Given the description of an element on the screen output the (x, y) to click on. 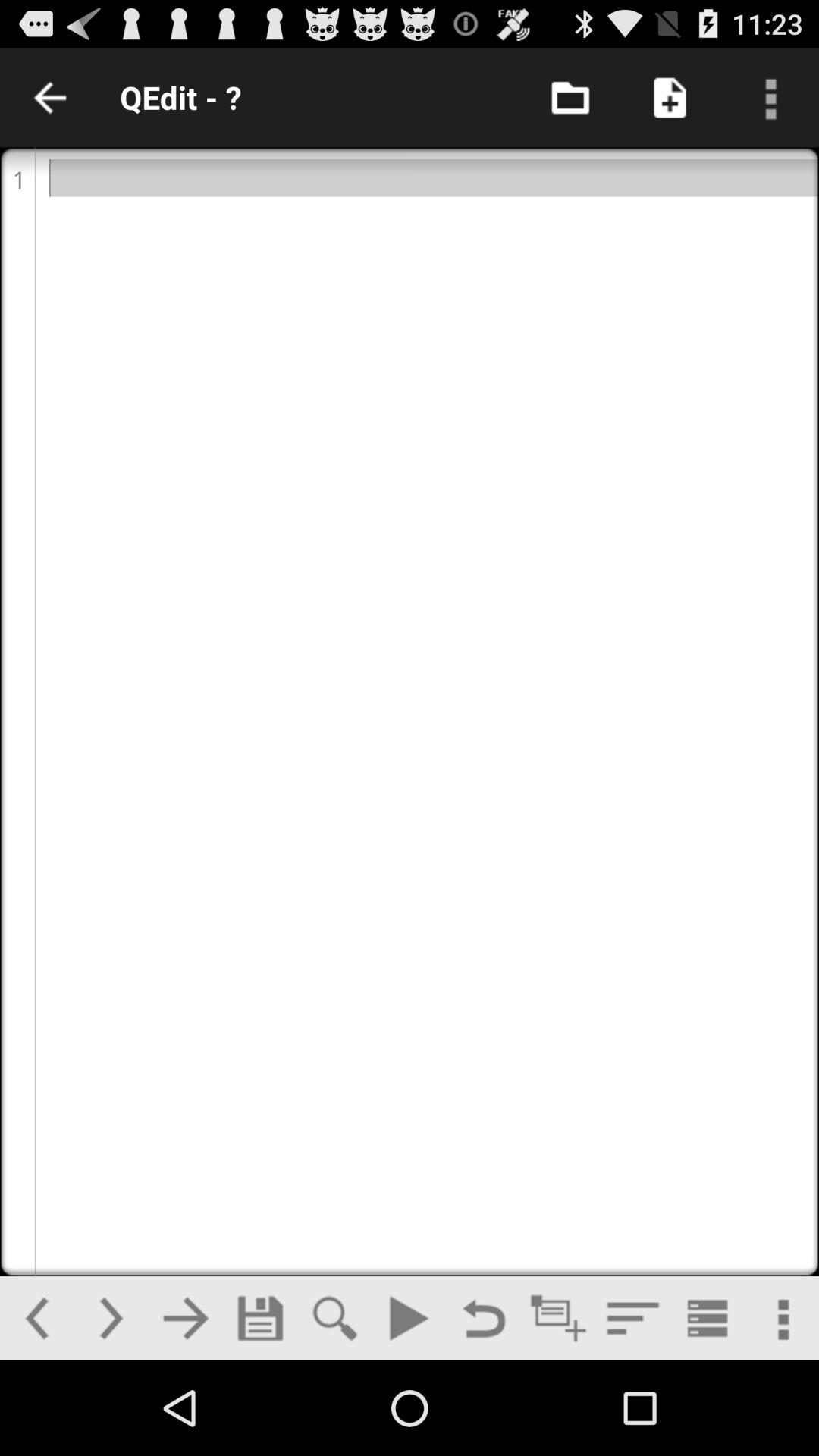
to save the files (259, 1318)
